Given the description of an element on the screen output the (x, y) to click on. 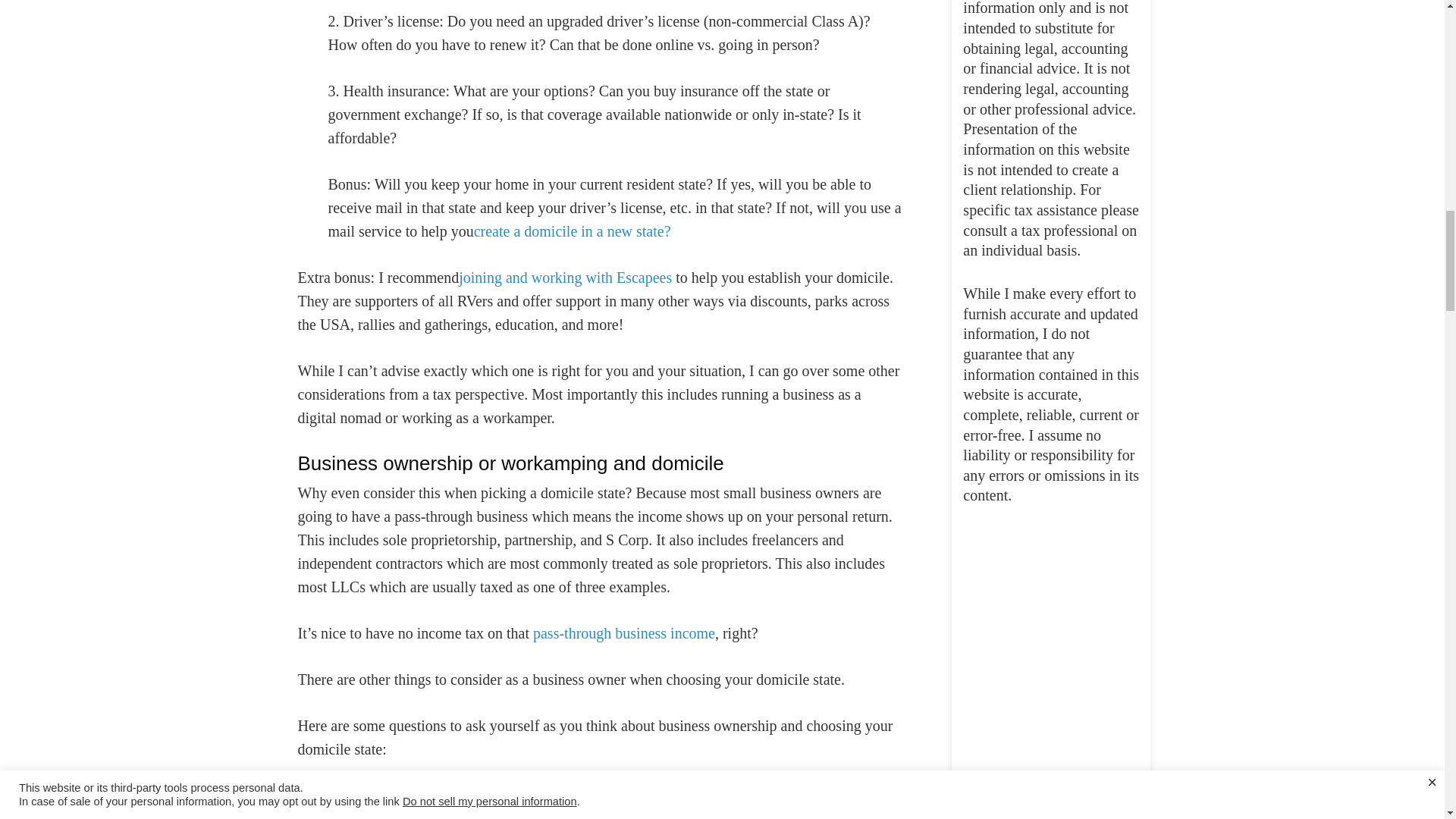
create a domicile in a new state? (572, 231)
pass-through business income (623, 633)
joining and working with Escapees (564, 277)
